Given the description of an element on the screen output the (x, y) to click on. 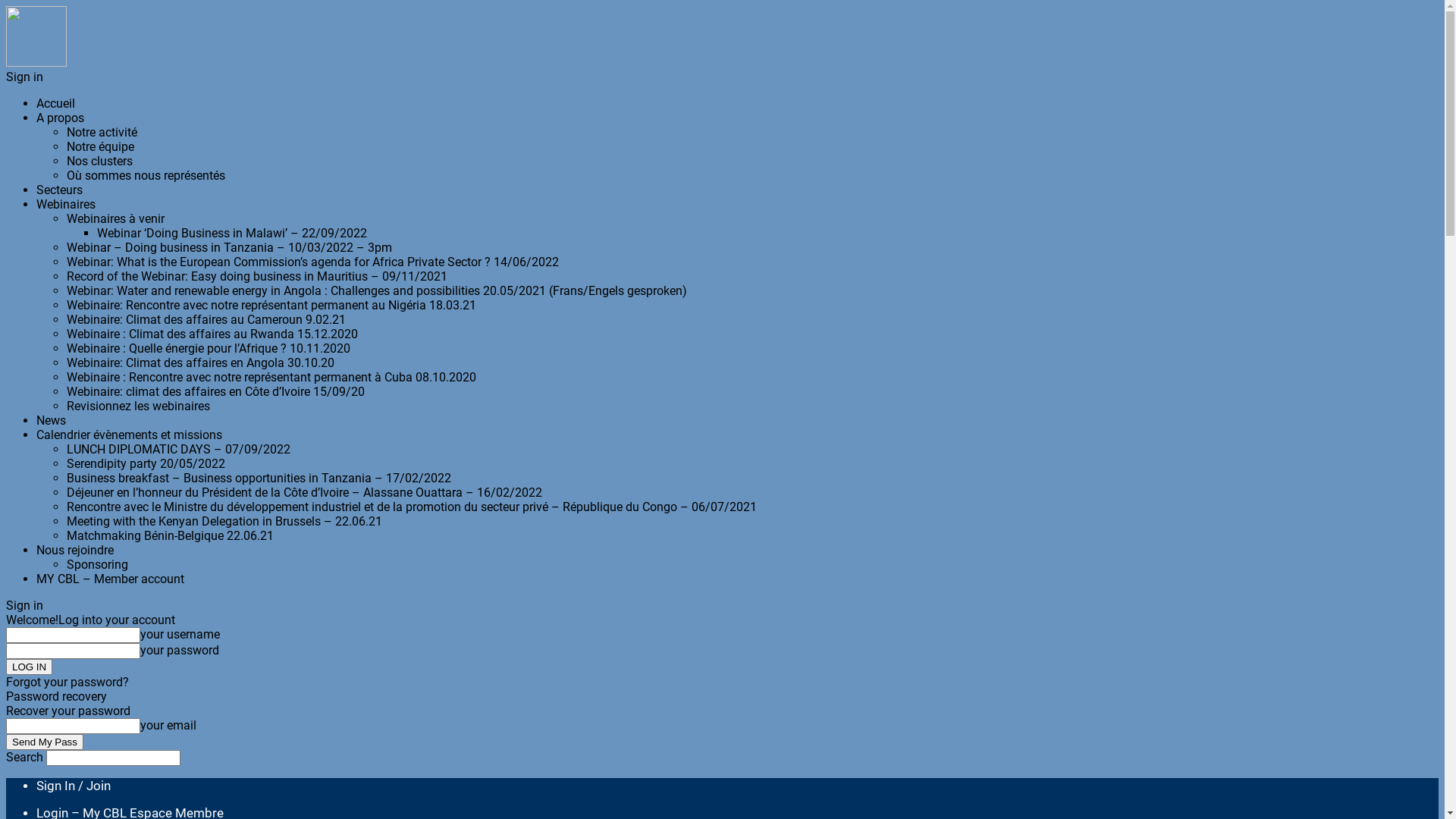
Nos clusters Element type: text (99, 160)
Sign In / Join Element type: text (73, 785)
Webinaires Element type: text (65, 204)
Revisionnez les webinaires Element type: text (138, 405)
Forgot your password? Element type: text (67, 681)
Secteurs Element type: text (59, 189)
Webinaire: Climat des affaires au Cameroun 9.02.21 Element type: text (205, 319)
Nous rejoindre Element type: text (74, 549)
Sign in Element type: text (24, 76)
A propos Element type: text (60, 117)
News Element type: text (50, 420)
Webinaire: Climat des affaires en Angola 30.10.20 Element type: text (200, 362)
Serendipity party 20/05/2022 Element type: text (145, 463)
Webinaire : Climat des affaires au Rwanda 15.12.2020 Element type: text (211, 333)
Sponsoring Element type: text (97, 564)
Accueil Element type: text (55, 103)
